Given the description of an element on the screen output the (x, y) to click on. 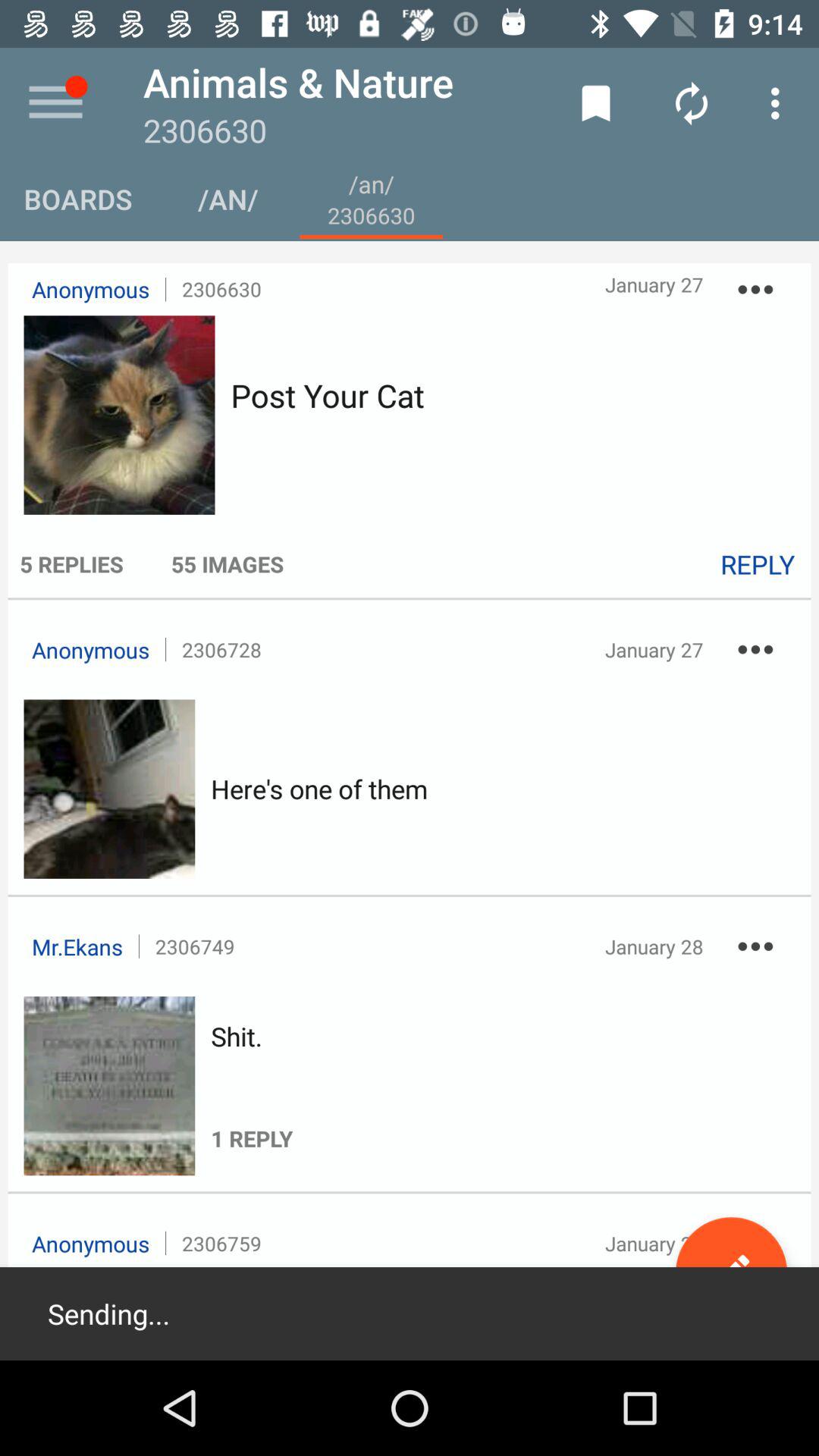
press 1 reply (251, 1103)
